Given the description of an element on the screen output the (x, y) to click on. 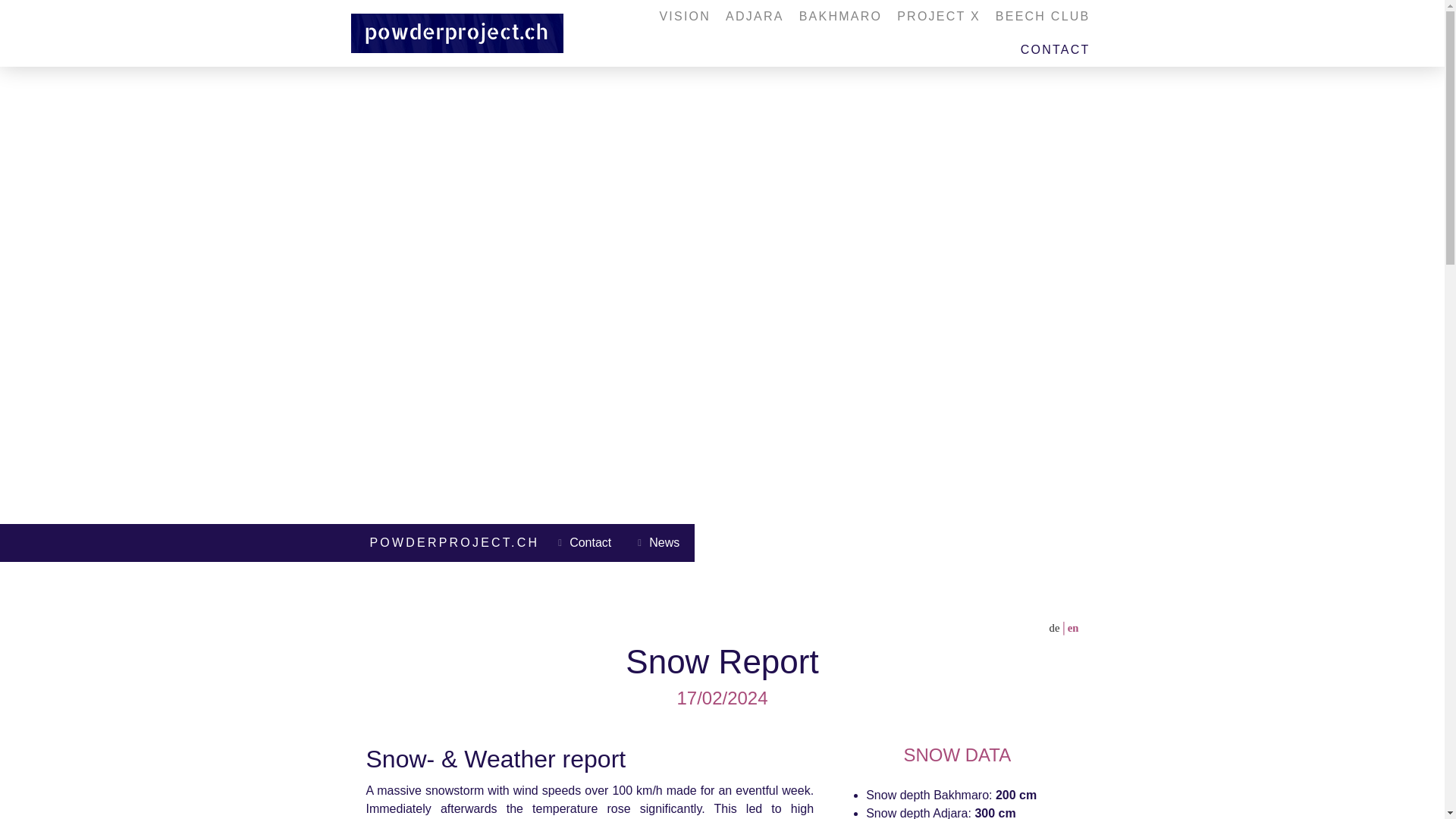
BAKHMARO (840, 16)
ADJARA (754, 16)
VISION (683, 16)
